Given the description of an element on the screen output the (x, y) to click on. 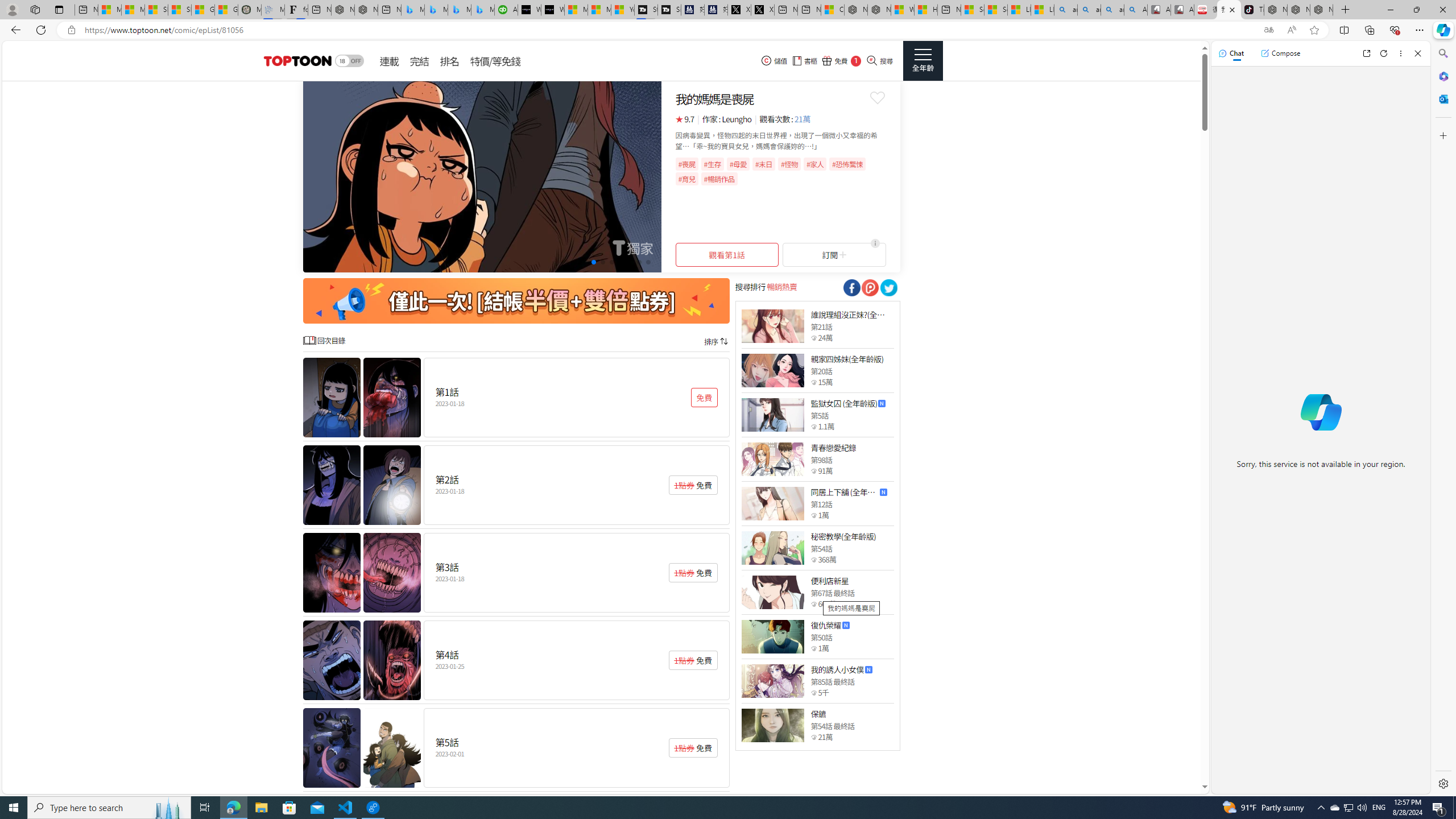
Class: side_menu_btn actionRightMenuBtn (922, 60)
Class: swiper-slide (481, 176)
Wildlife - MSN (902, 9)
Amazon Echo Robot - Search Images (1135, 9)
Class:  switch_18mode actionAdultBtn (349, 60)
Go to slide 9 (639, 261)
Go to slide 4 (593, 261)
